Given the description of an element on the screen output the (x, y) to click on. 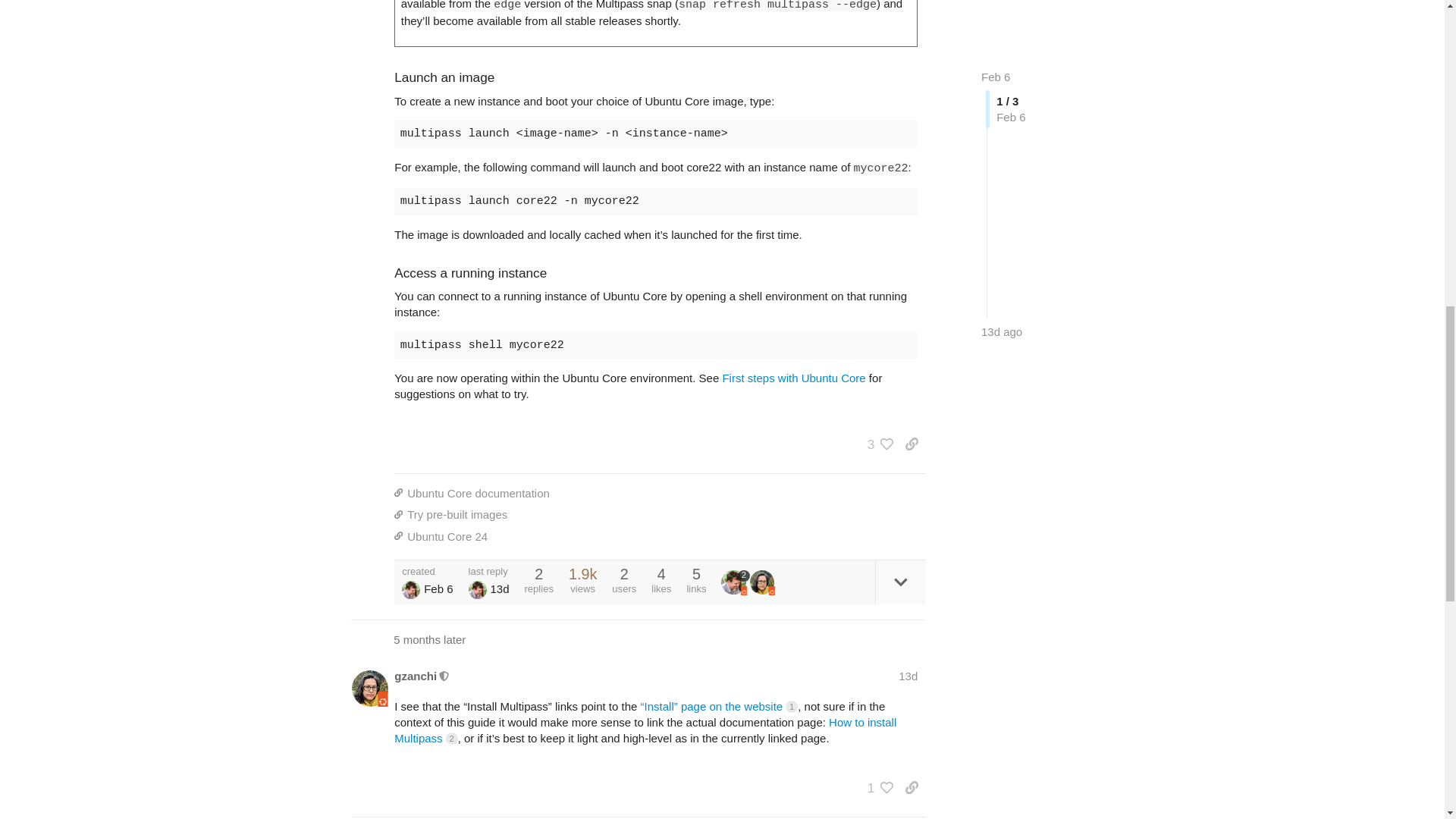
Feb 6, 2024 8:31 pm (437, 588)
Graham Morrison (410, 589)
copy a link to this post to clipboard (912, 444)
First steps with Ubuntu Core (793, 377)
3 people liked this post (876, 444)
expand topic details (900, 582)
